Given the description of an element on the screen output the (x, y) to click on. 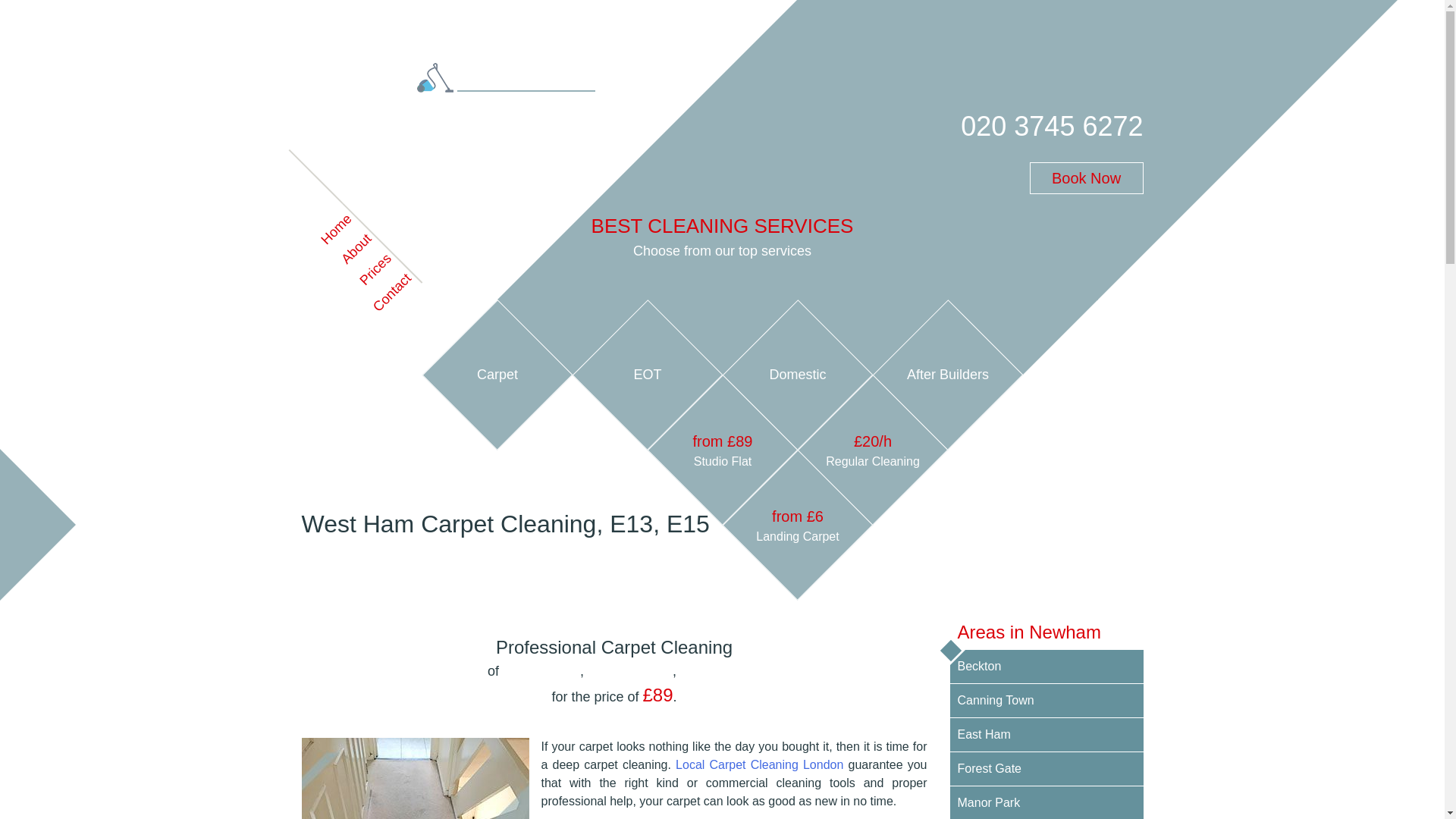
After Builders (925, 352)
Carpet Cleaners London (367, 115)
EOT (625, 352)
Book Now (1085, 178)
Domestic (775, 352)
East Ham (1045, 734)
About (338, 237)
Contact (377, 277)
020 3745 6272 (1051, 126)
Canning Town (1045, 700)
